Given the description of an element on the screen output the (x, y) to click on. 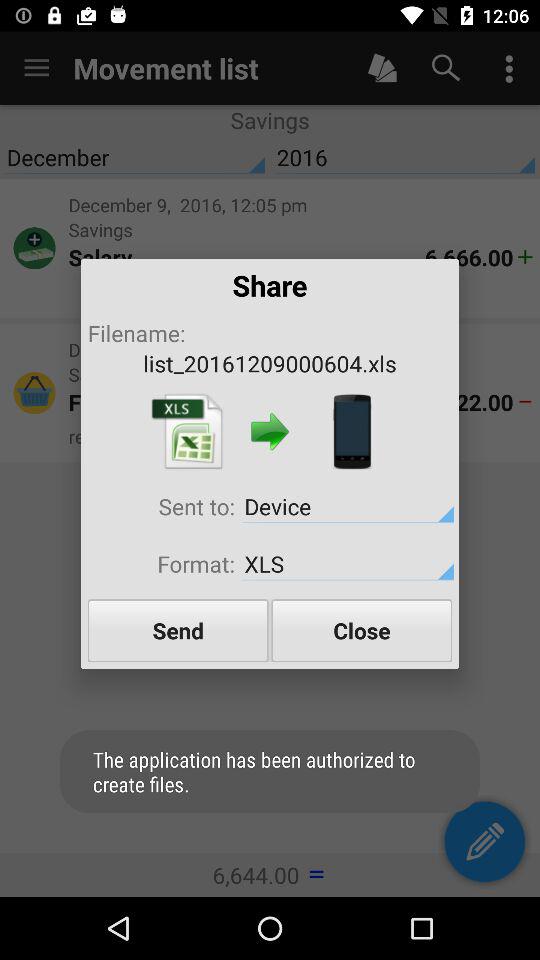
transfer to device (352, 431)
